Given the description of an element on the screen output the (x, y) to click on. 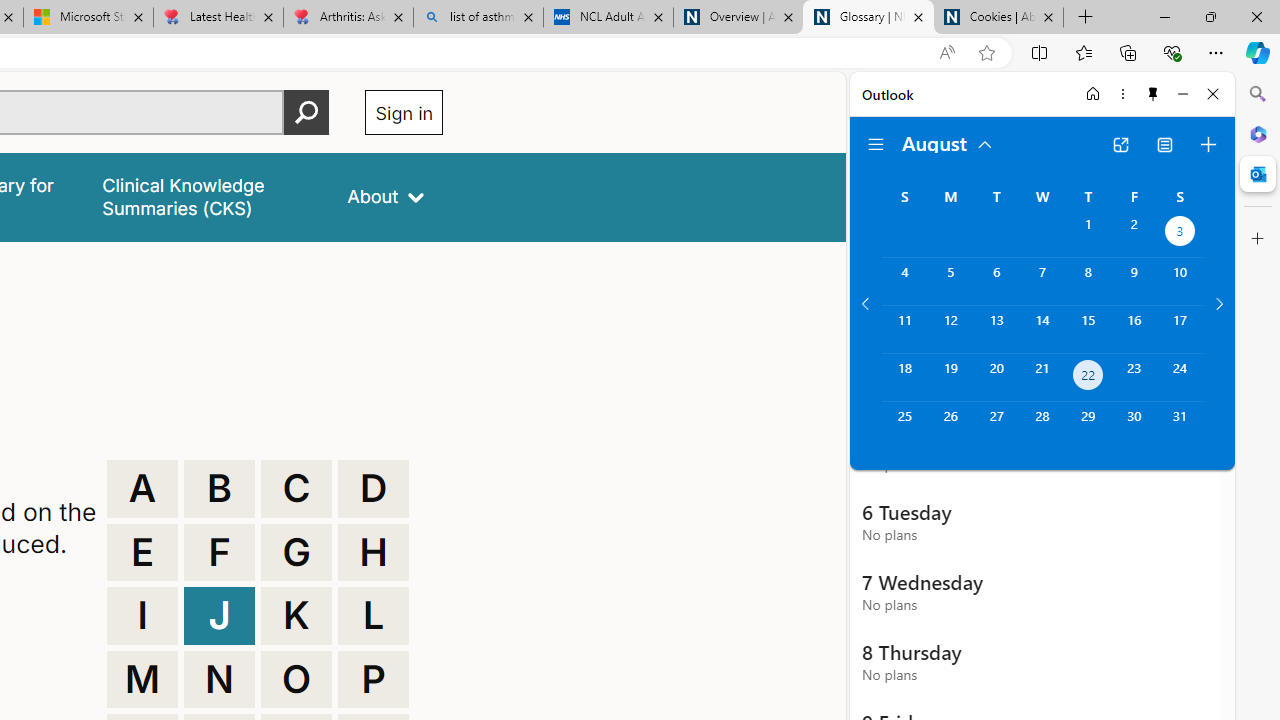
Tuesday, August 27, 2024.  (996, 425)
L (373, 615)
E (142, 551)
Wednesday, August 14, 2024.  (1042, 329)
false (207, 196)
Saturday, August 17, 2024.  (1180, 329)
I (142, 615)
Folder navigation (876, 144)
M (142, 679)
Create event (1208, 144)
Open in new tab (1120, 144)
J (219, 615)
